Given the description of an element on the screen output the (x, y) to click on. 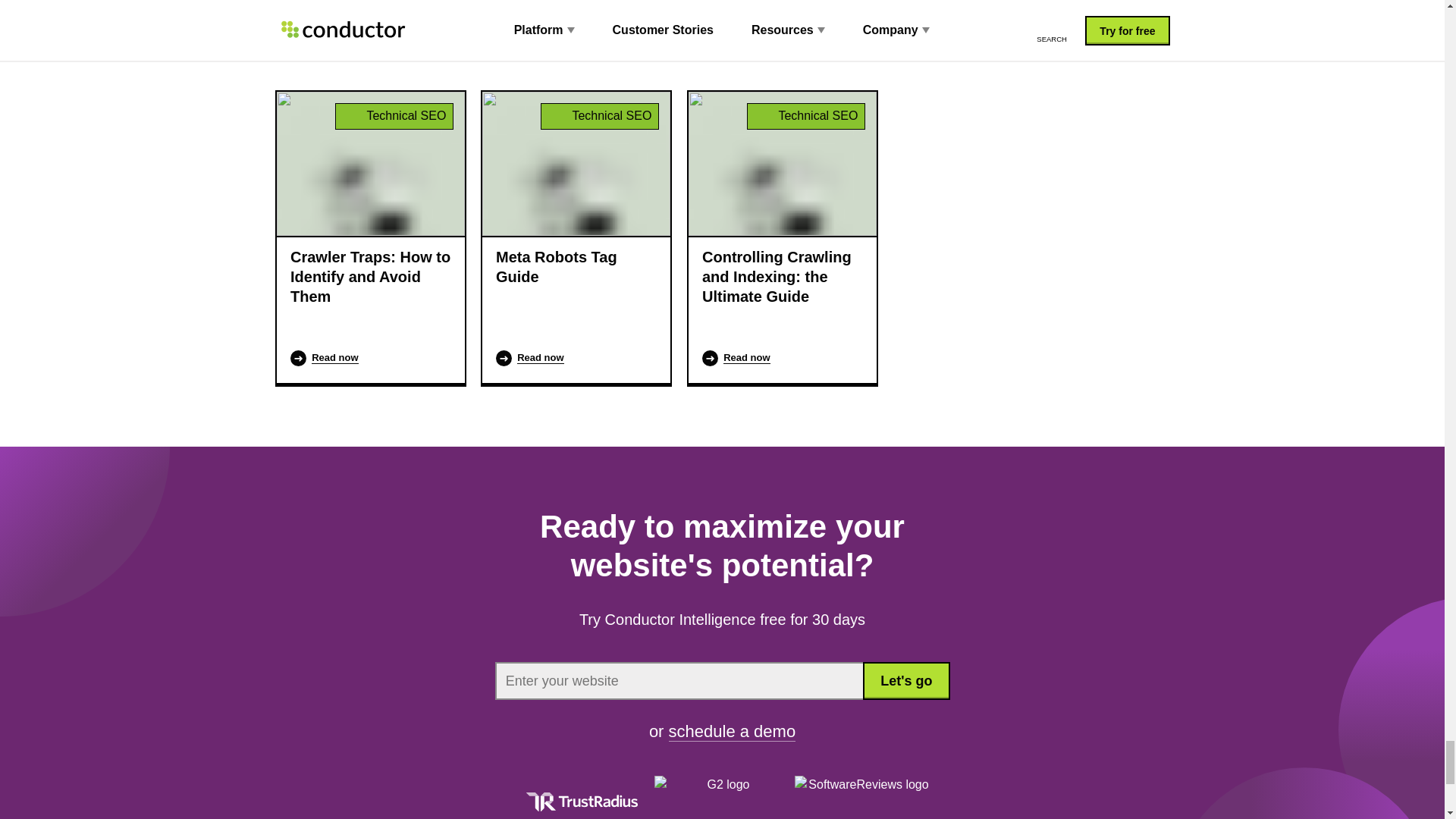
Meta Robots Tag Guide (576, 266)
Crawler Traps: How to Identify and Avoid Them (369, 276)
Controlling Crawling and Indexing: the Ultimate Guide (782, 276)
